Given the description of an element on the screen output the (x, y) to click on. 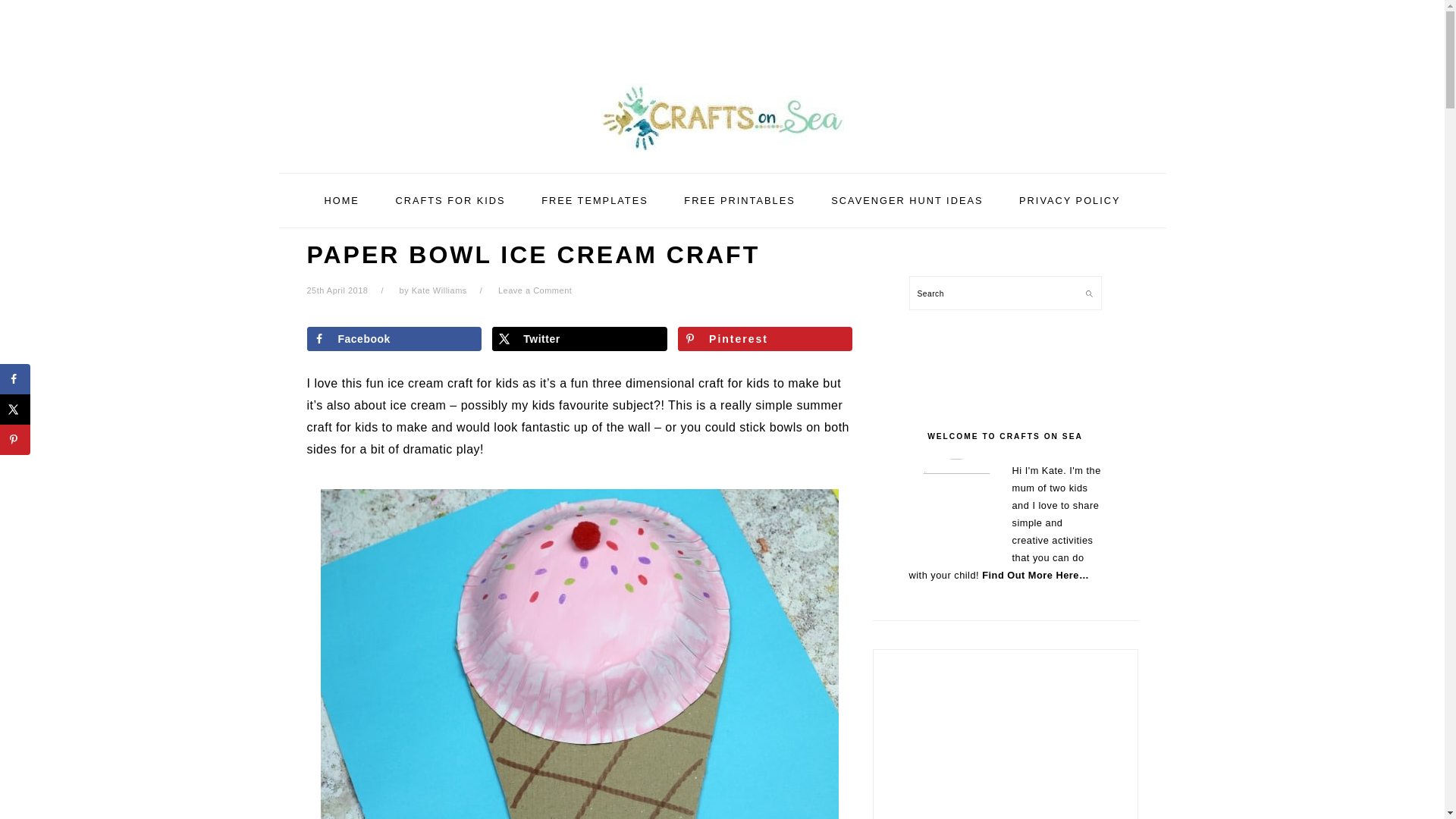
HOME (340, 200)
Leave a Comment (534, 289)
Save to Pinterest (15, 440)
Crafts on Sea (721, 117)
Crafts on Sea (721, 155)
FREE PRINTABLES (739, 200)
CRAFTS FOR KIDS (449, 200)
Share on Facebook (392, 338)
SCAVENGER HUNT IDEAS (906, 200)
